Given the description of an element on the screen output the (x, y) to click on. 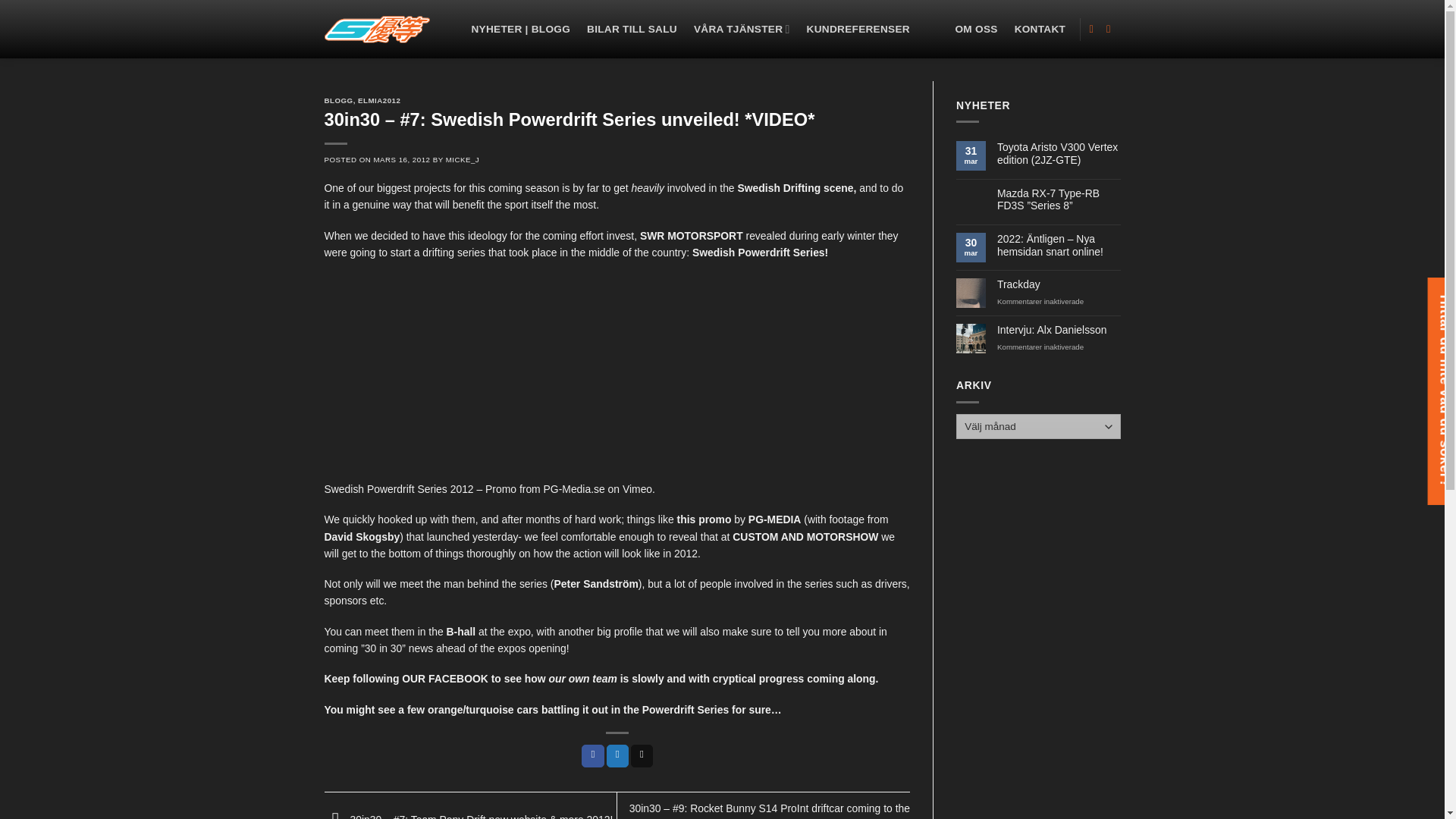
OUR FACEBOOK (444, 678)
PG-Media.se (574, 489)
BILAR TILL SALU (631, 28)
ELMIA2012 (379, 100)
BLOGG (338, 100)
OM OSS (976, 28)
KUNDREFERENSER (858, 28)
KONTAKT (1039, 28)
Intervju: Alx Danielsson (1059, 329)
CUSTOM AND MOTORSHOW (804, 536)
SWR MOTORSPORT (692, 235)
MARS 16, 2012 (400, 159)
Maila en kompis (641, 755)
Vimeo (637, 489)
Trackday (1059, 284)
